Given the description of an element on the screen output the (x, y) to click on. 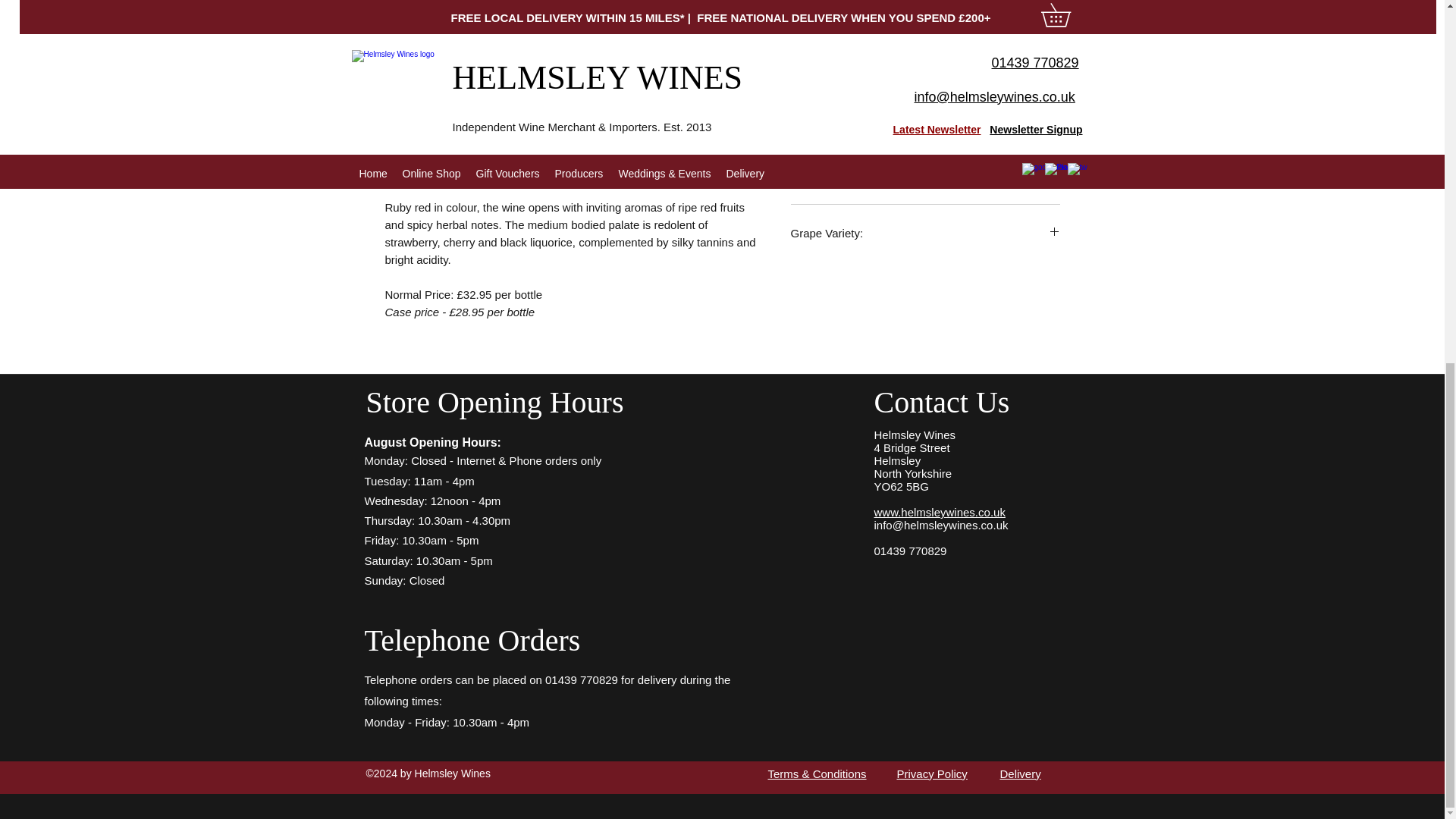
Privacy Policy (931, 773)
Grape Variety: (924, 233)
Tech Spec: (924, 57)
Delivery (1019, 773)
www.helmsleywines.co.uk (938, 512)
Vintage: (924, 174)
